Given the description of an element on the screen output the (x, y) to click on. 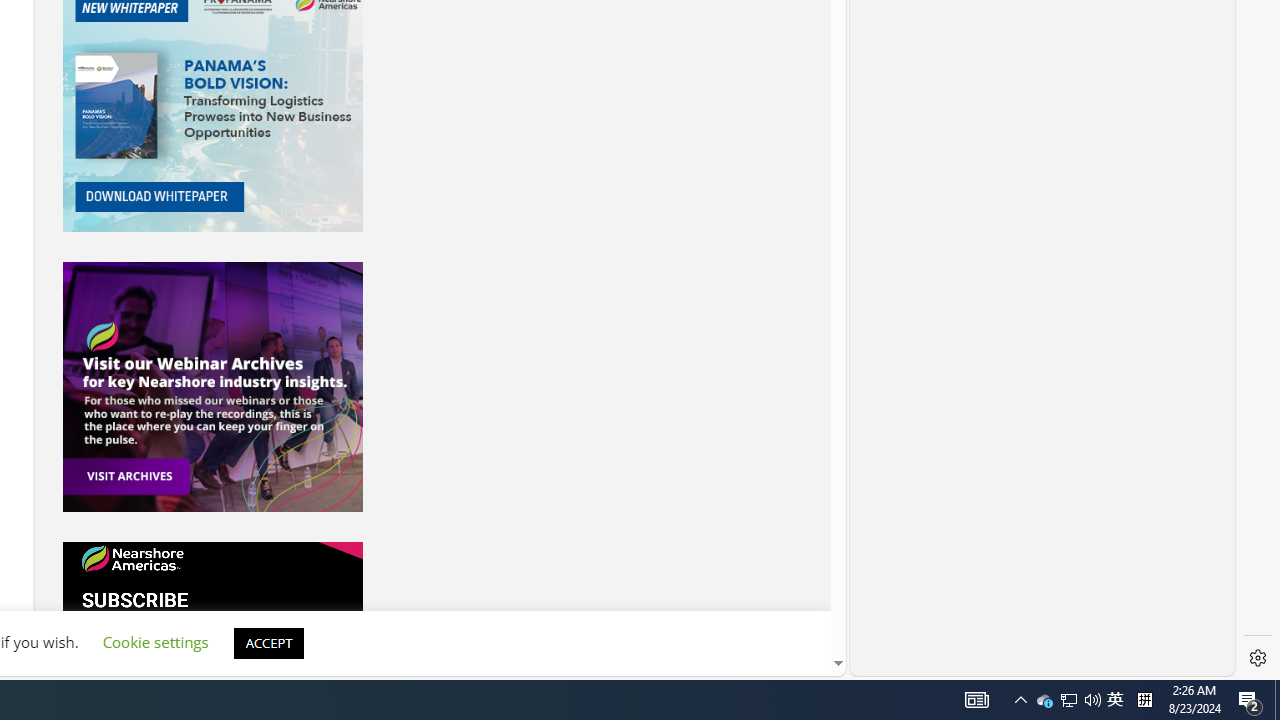
Cookie settings (155, 642)
Events-Banner-Ad.jpg (212, 386)
Events-Banner-Ad.jpg (212, 386)
ACCEPT (268, 642)
Settings (1258, 658)
